Given the description of an element on the screen output the (x, y) to click on. 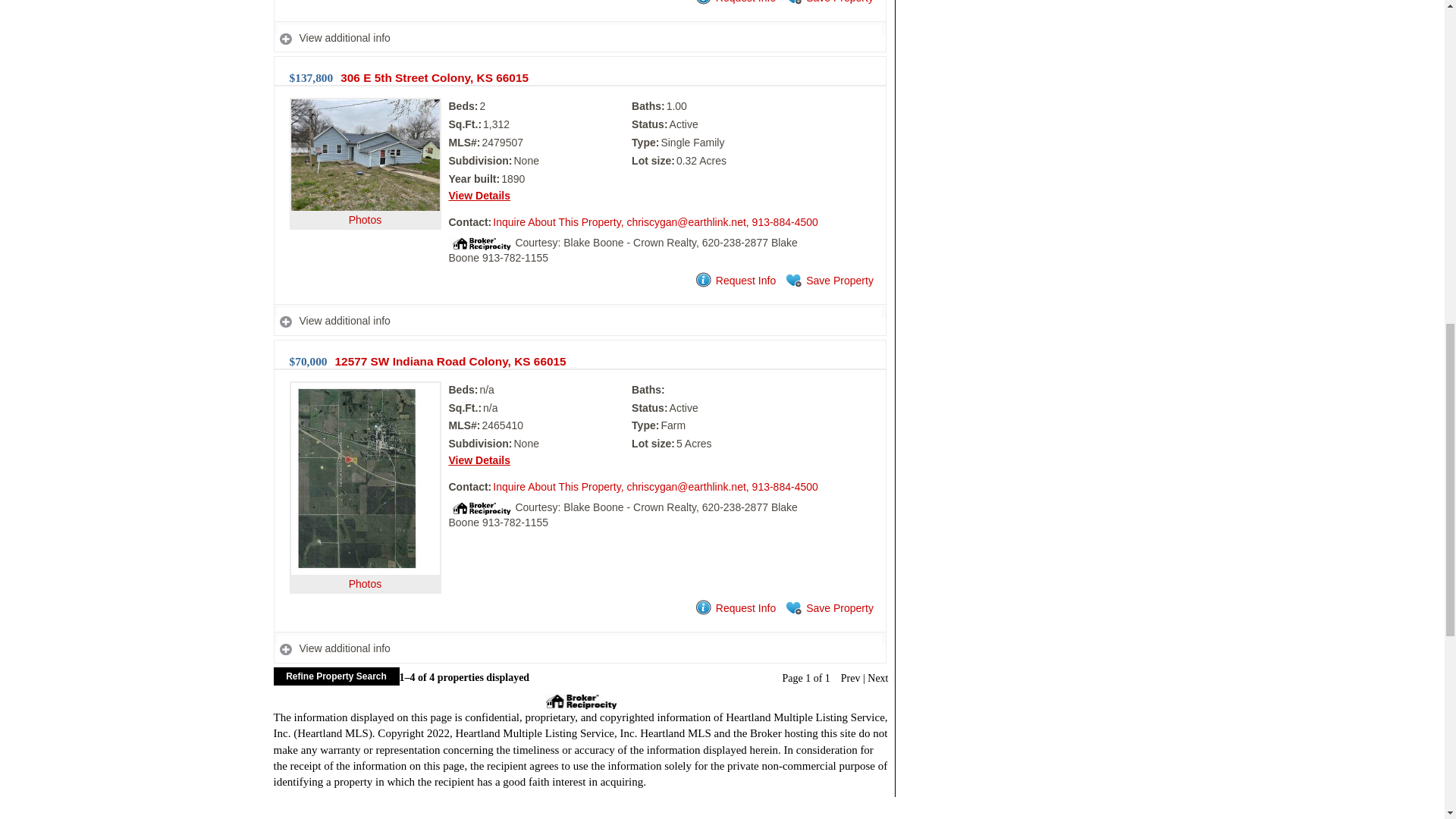
View property remarks and map (580, 648)
Photos (365, 187)
View property remarks and map (580, 320)
Save Property (828, 2)
Request Info (734, 2)
306 E 5th Street Colony, KS 66015 (434, 77)
View property remarks and map (580, 38)
